Given the description of an element on the screen output the (x, y) to click on. 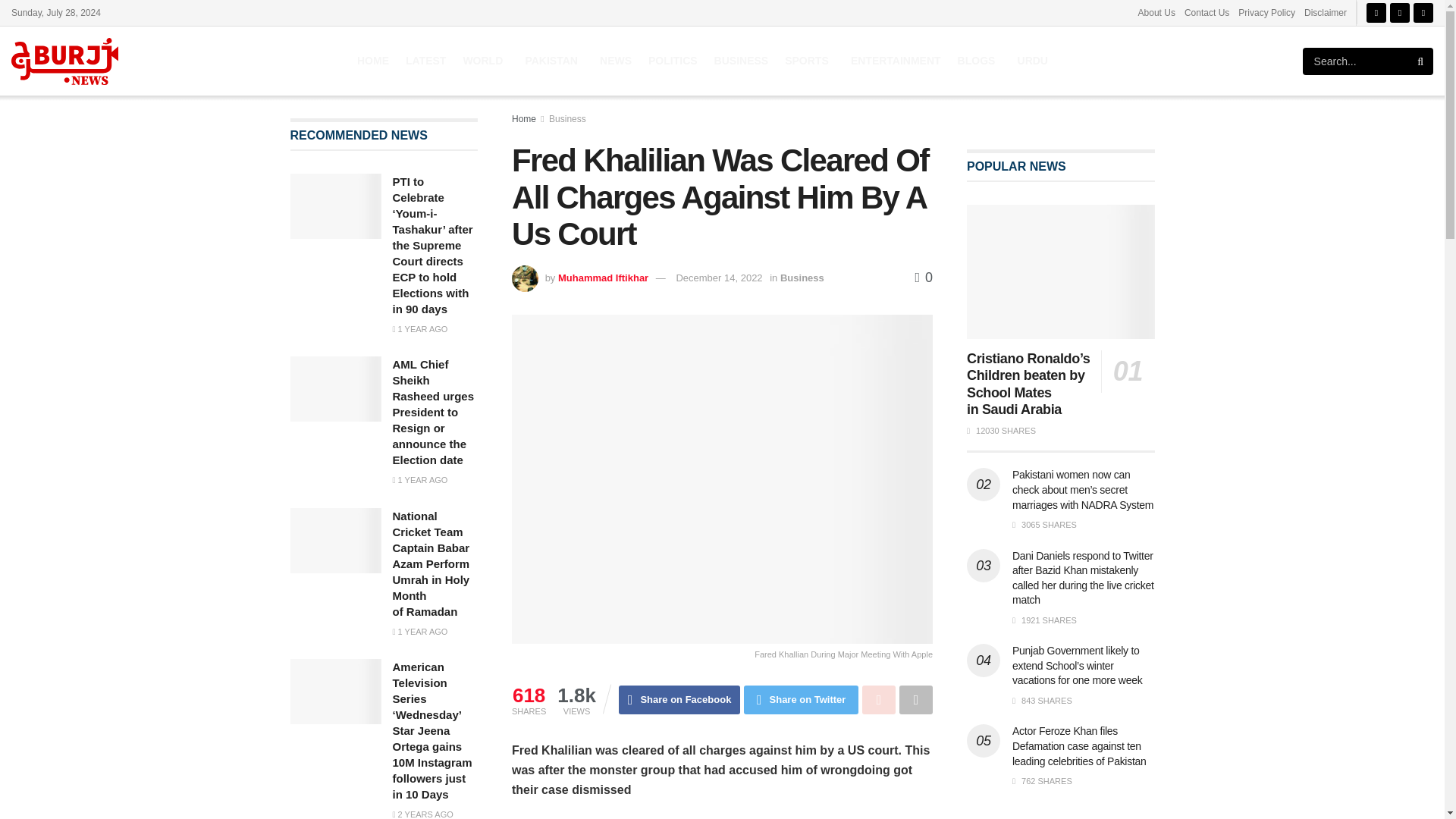
Privacy Policy (1267, 12)
Disclaimer (1325, 12)
About Us (1156, 12)
Contact Us (1206, 12)
ENTERTAINMENT (895, 60)
